Given the description of an element on the screen output the (x, y) to click on. 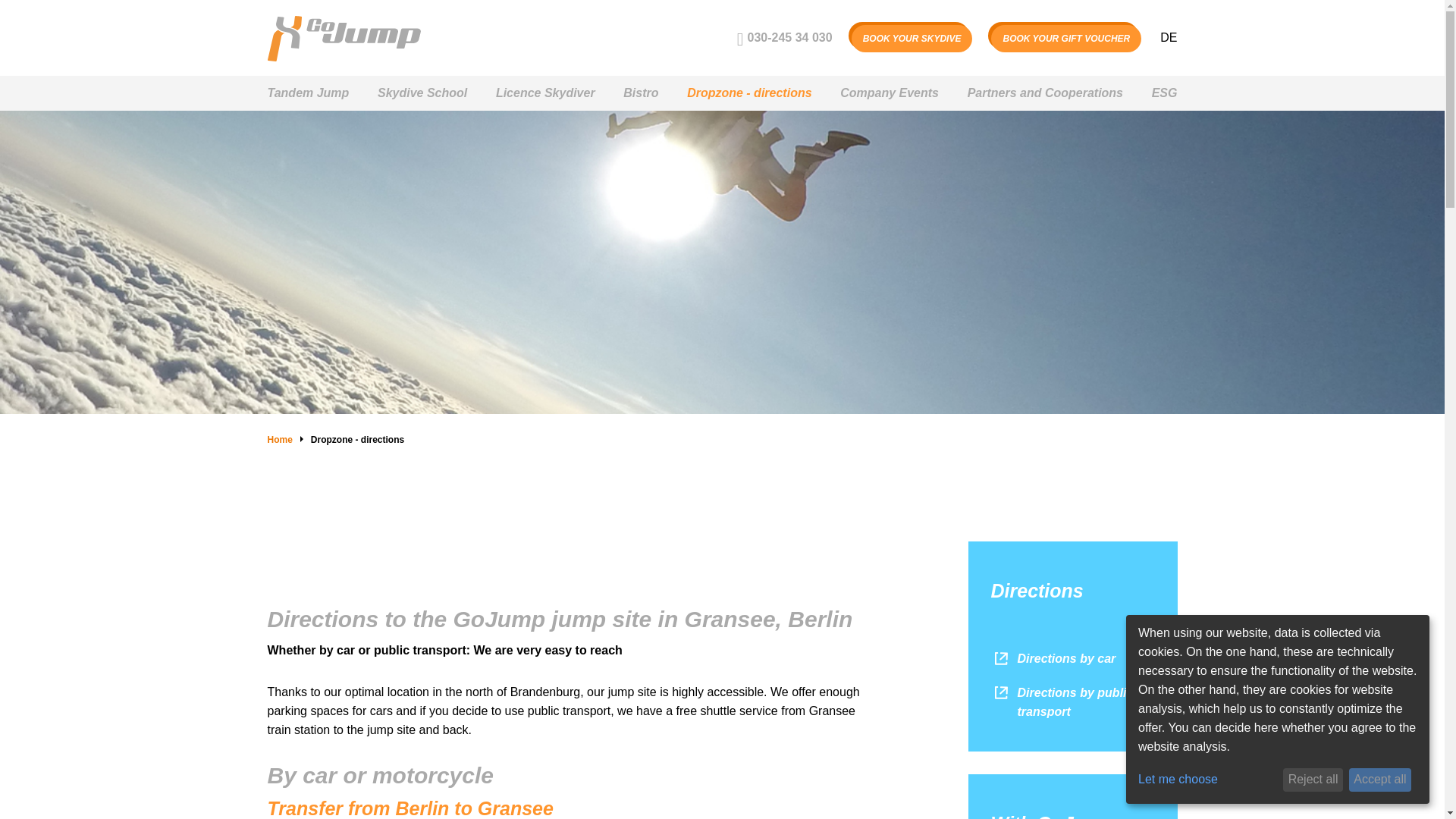
ESG (1164, 92)
DE (1168, 37)
Licence Skydiver (545, 92)
Company Events (889, 92)
Home (279, 439)
Dropzone - directions (748, 92)
030-245 34 030 (784, 37)
Skydive School (422, 92)
Directions by car (1052, 658)
Tandem Jump (307, 92)
Directions by public transport (1072, 702)
Bistro (640, 92)
BOOK YOUR GIFT VOUCHER (1066, 38)
BOOK YOUR SKYDIVE (911, 38)
Partners and Cooperations (1045, 92)
